Given the description of an element on the screen output the (x, y) to click on. 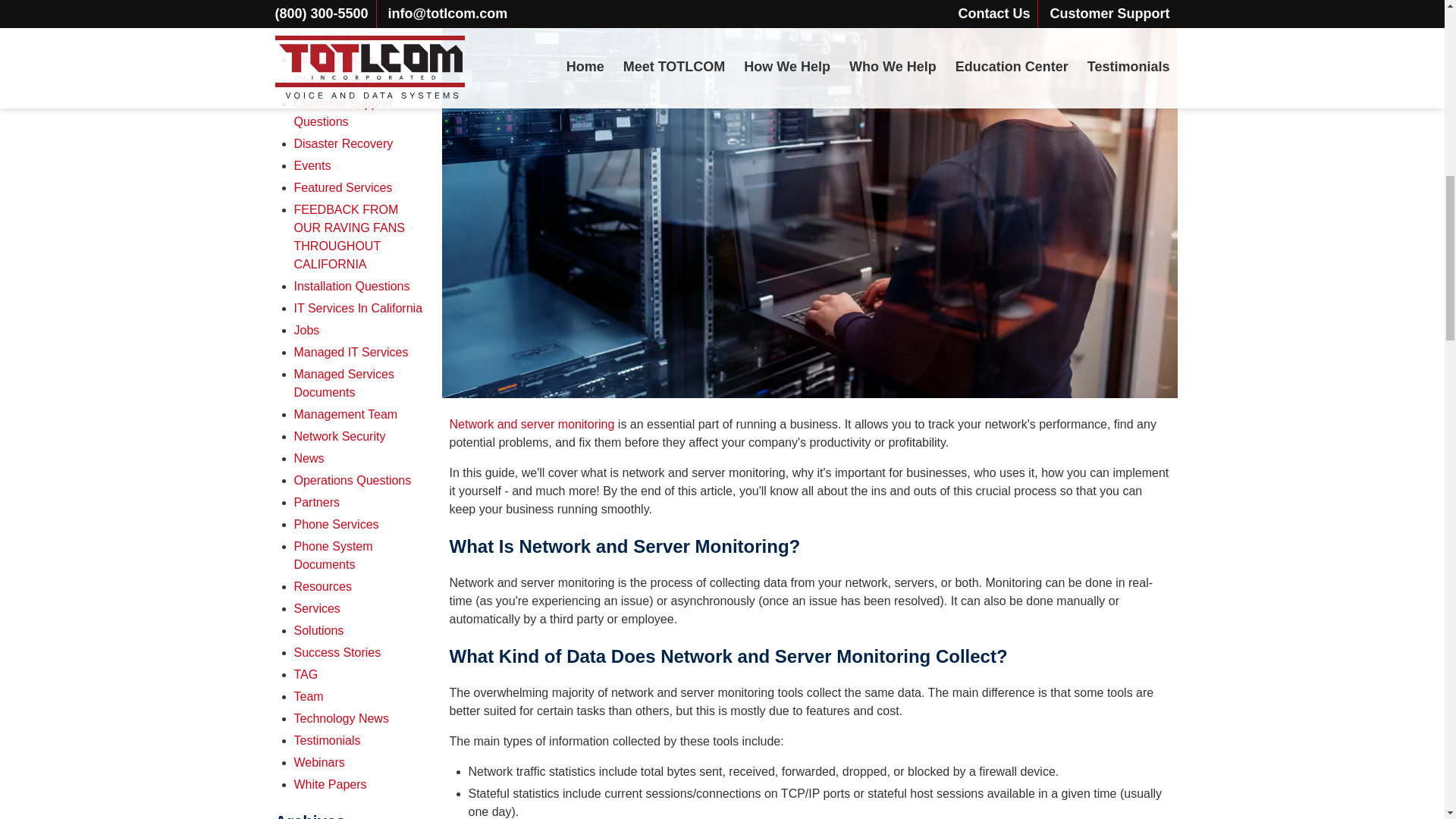
Customer Support Questions (343, 112)
Case Studies (330, 37)
Cloud Technologies (346, 81)
Network and server monitoring (531, 423)
California Clients (339, 15)
Cloud Services (334, 59)
